Given the description of an element on the screen output the (x, y) to click on. 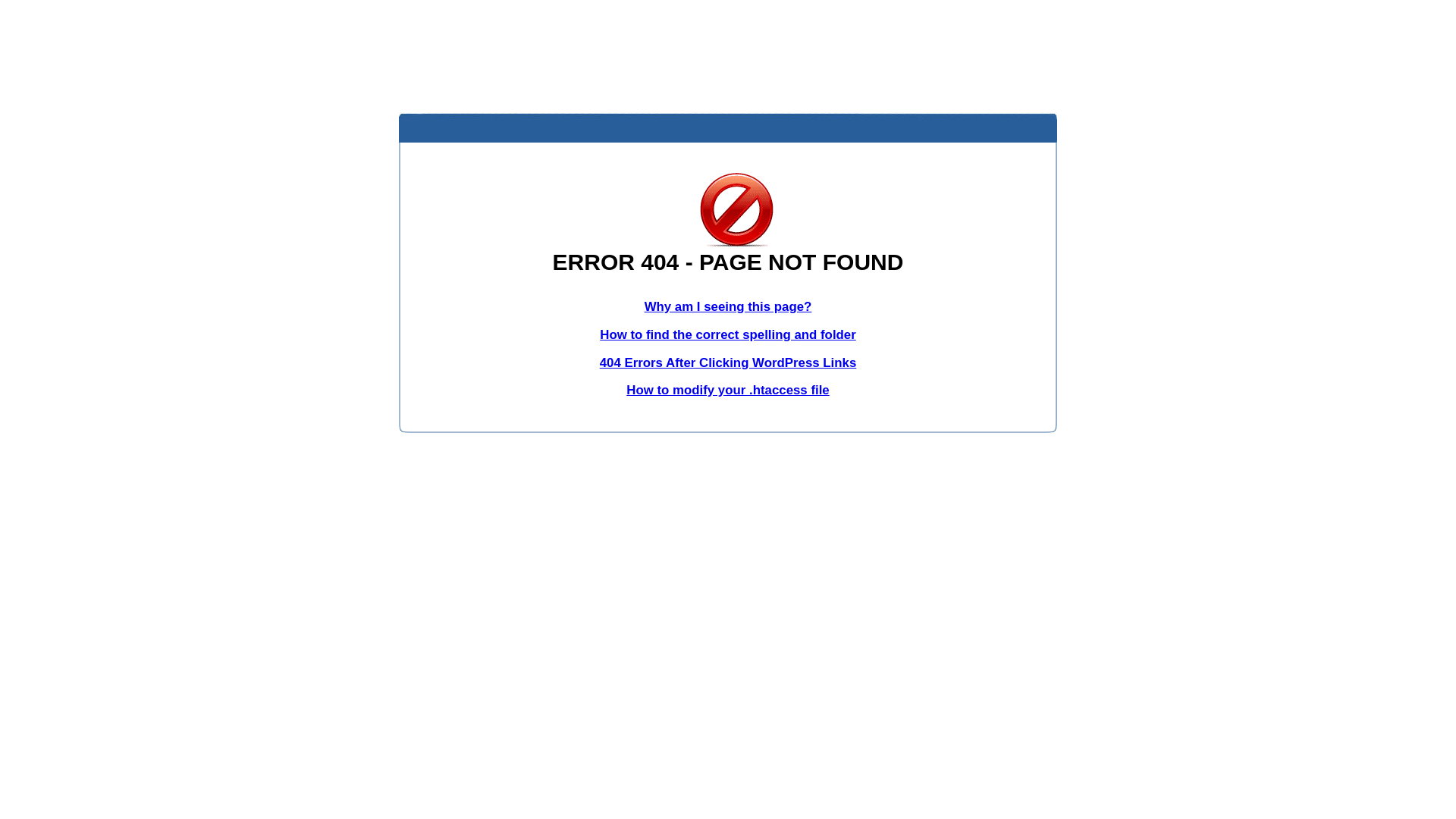
404 Errors After Clicking WordPress Links Element type: text (727, 362)
How to modify your .htaccess file Element type: text (727, 389)
How to find the correct spelling and folder Element type: text (727, 334)
Why am I seeing this page? Element type: text (728, 306)
